Given the description of an element on the screen output the (x, y) to click on. 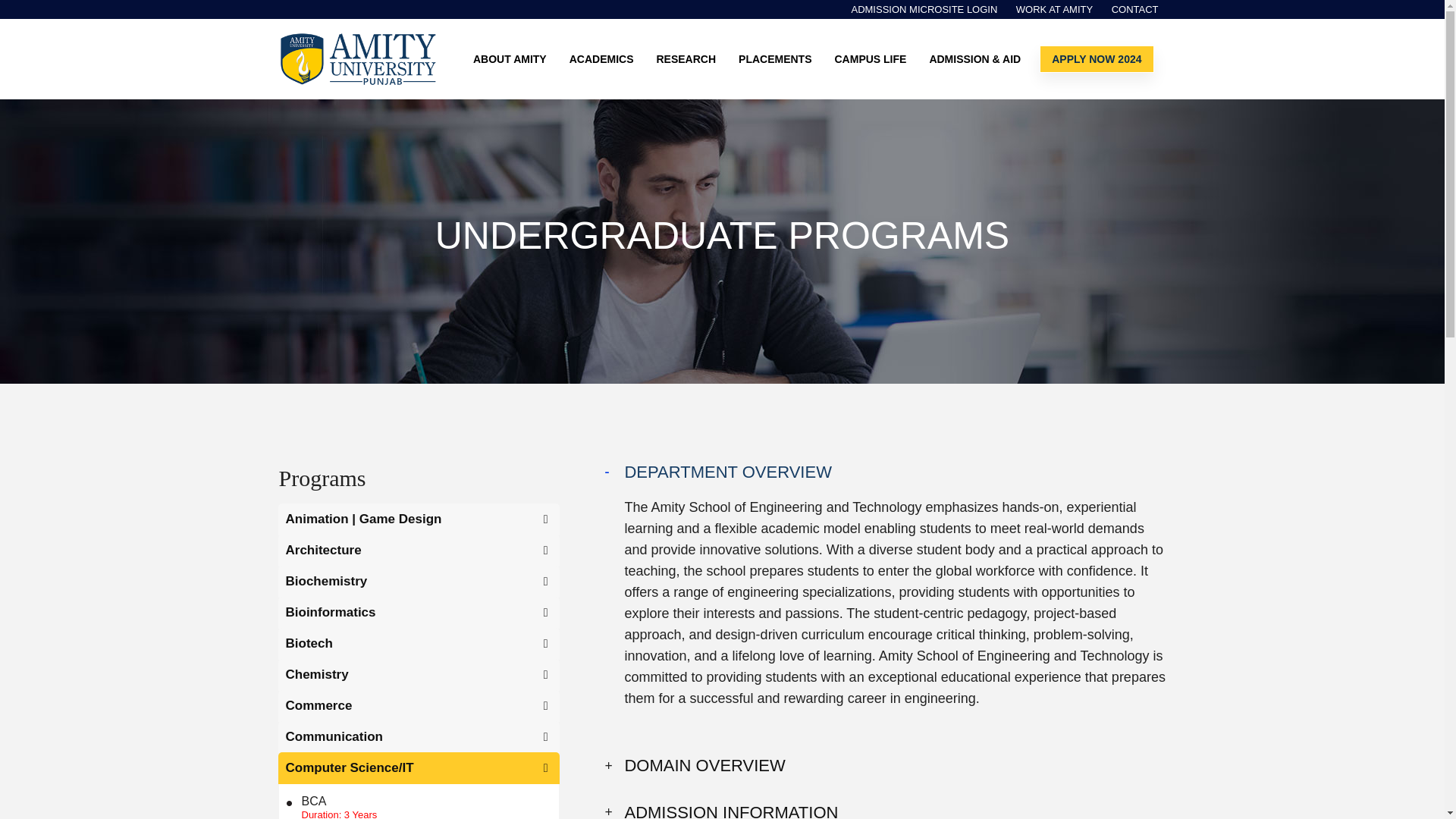
PLACEMENTS (778, 59)
RESEARCH (689, 59)
ABOUT AMITY (513, 59)
WORK AT AMITY (1054, 11)
CONTACT (1134, 11)
ACADEMICS (605, 59)
CAMPUS LIFE (874, 59)
ADMISSION MICROSITE LOGIN (923, 11)
